Given the description of an element on the screen output the (x, y) to click on. 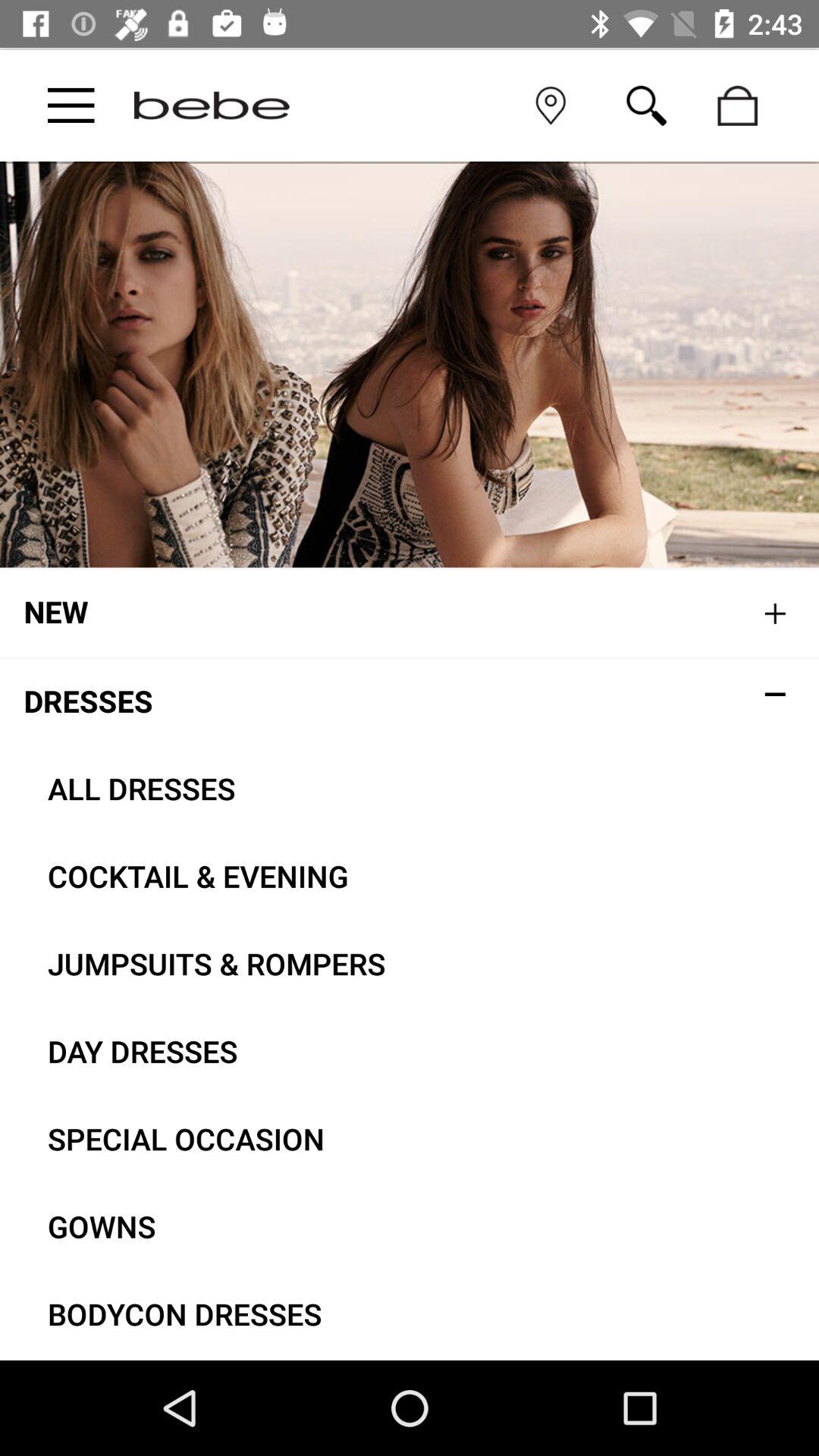
bebe (211, 105)
